Given the description of an element on the screen output the (x, y) to click on. 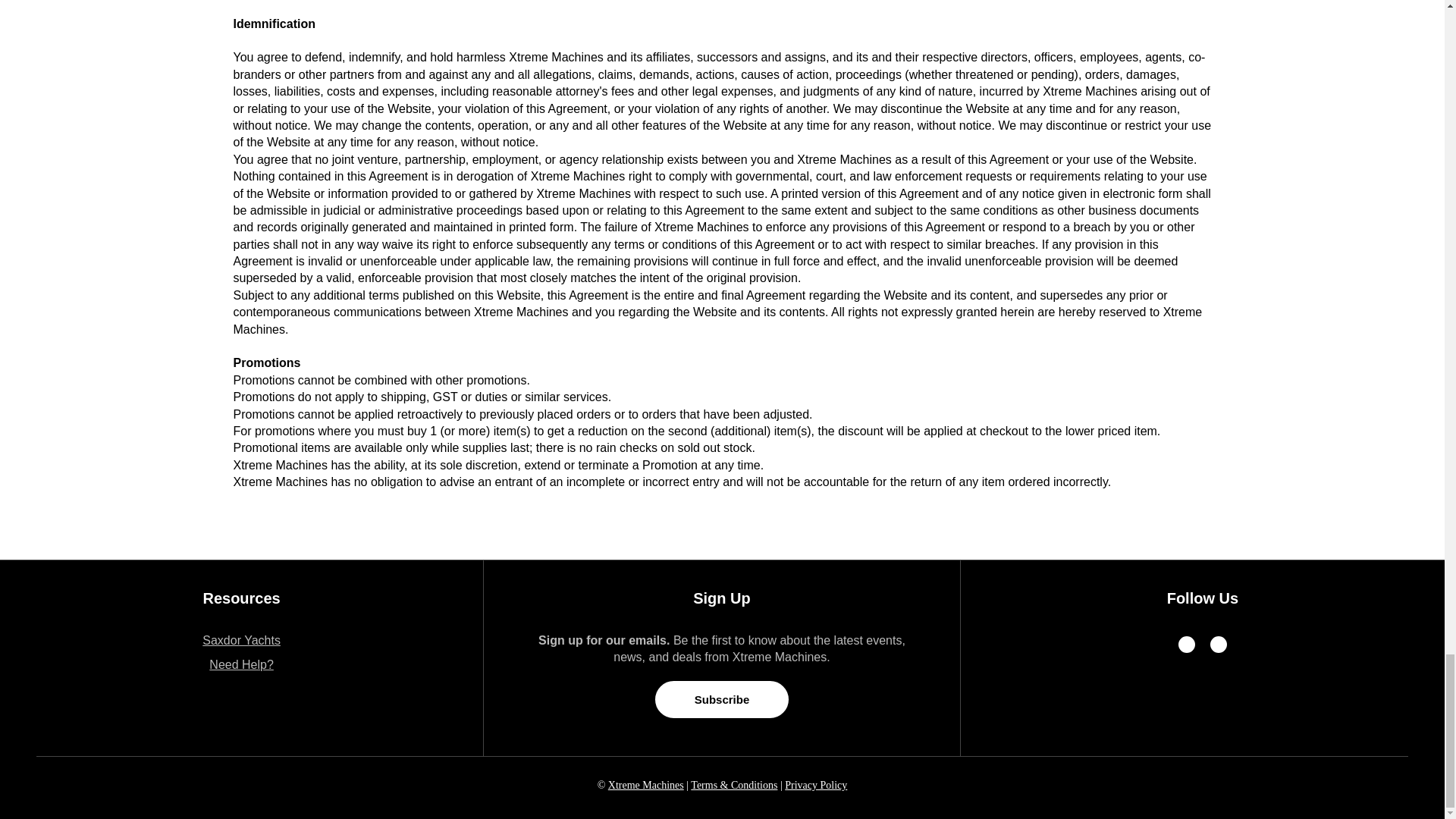
Saxdor Yachts (241, 640)
Privacy Policy (815, 785)
Need Help? (241, 664)
Xtreme Machines (646, 785)
Subscribe (722, 699)
